Given the description of an element on the screen output the (x, y) to click on. 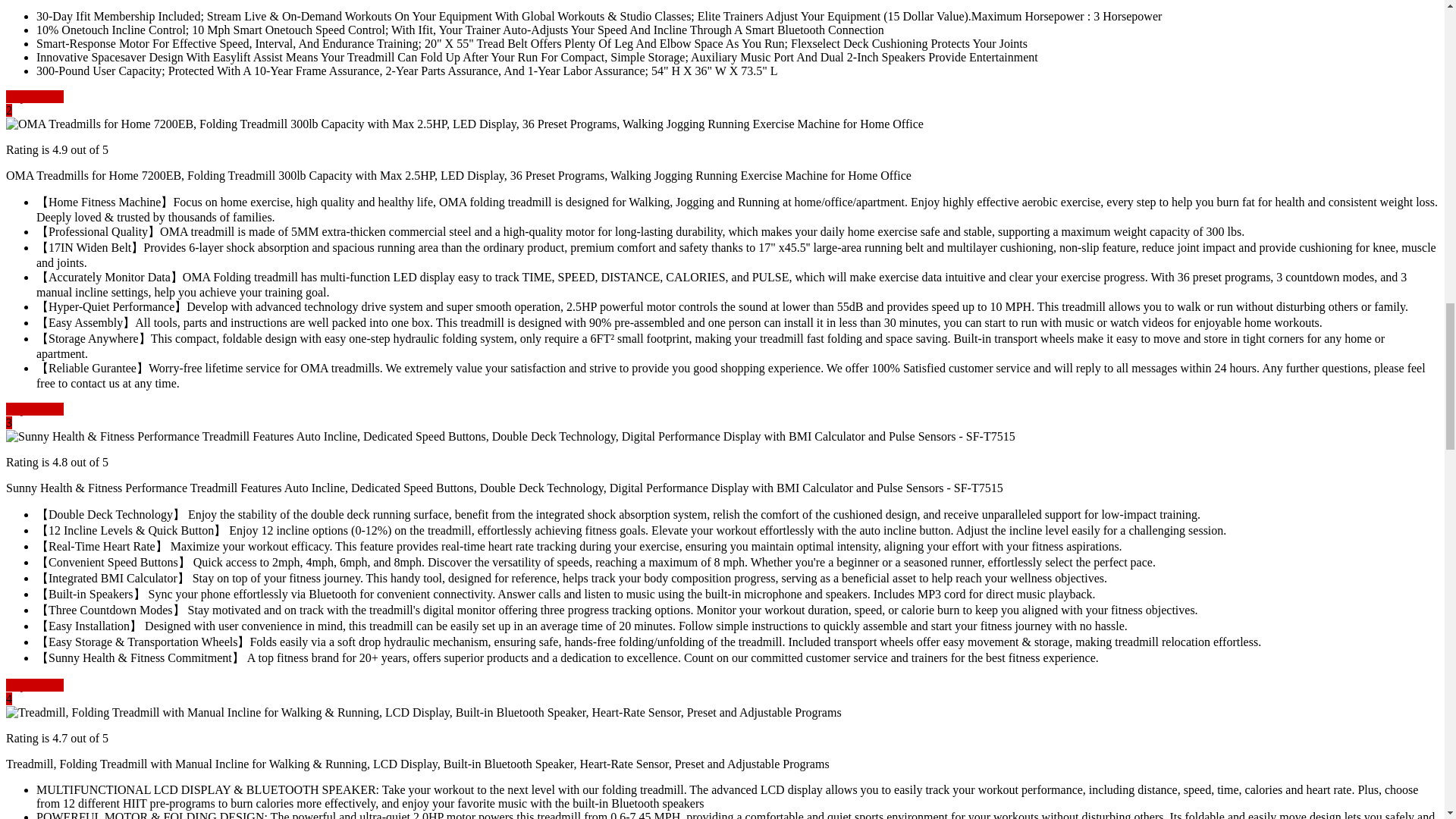
Buy It Now (34, 684)
Buy It Now (34, 96)
Buy It Now (34, 408)
